Given the description of an element on the screen output the (x, y) to click on. 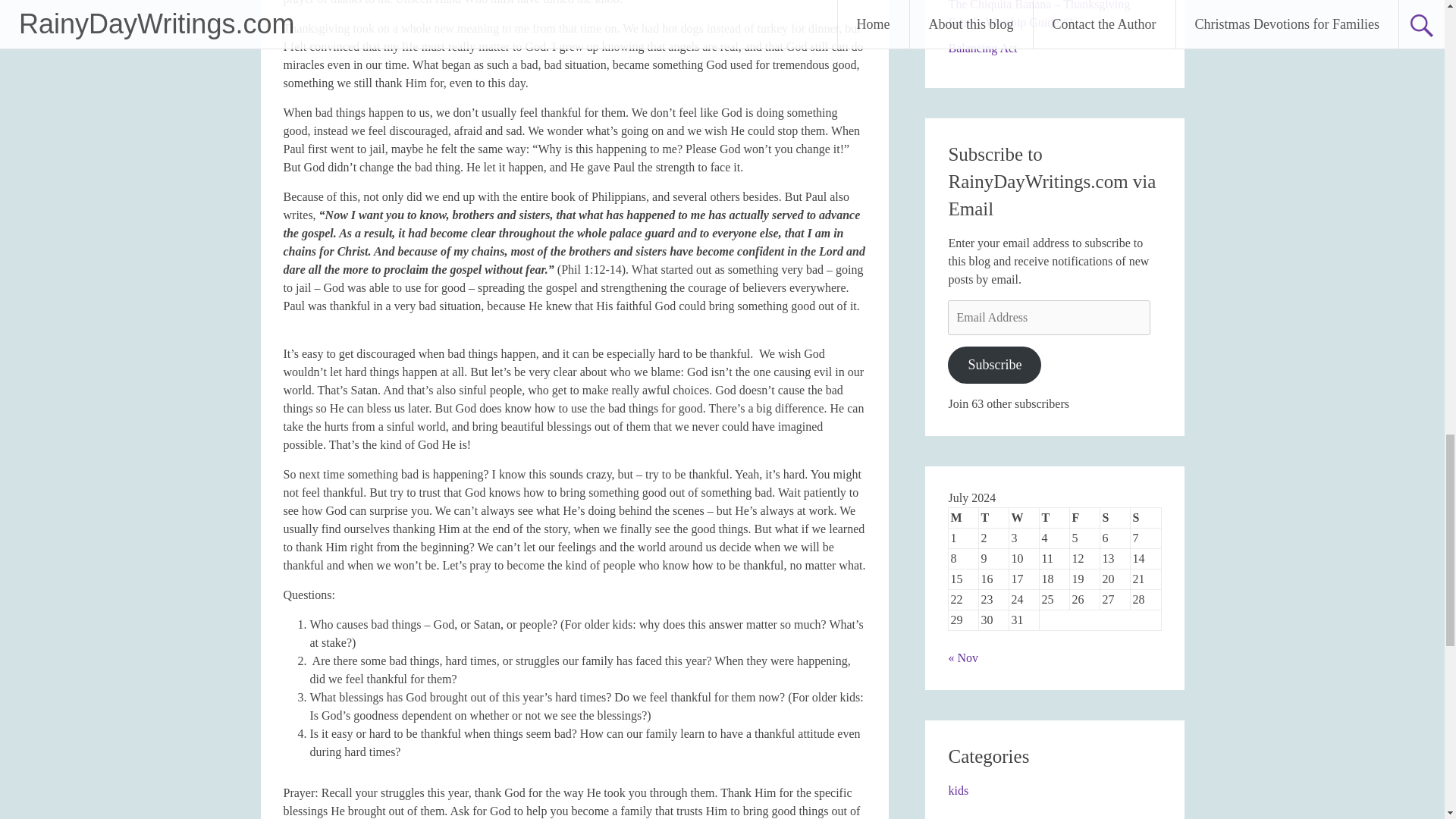
kids (957, 789)
Tuesday (993, 517)
Subscribe (994, 365)
Monday (963, 517)
Wednesday (1024, 517)
Saturday (1115, 517)
Balancing Act (981, 47)
Thursday (1054, 517)
Friday (1085, 517)
